Given the description of an element on the screen output the (x, y) to click on. 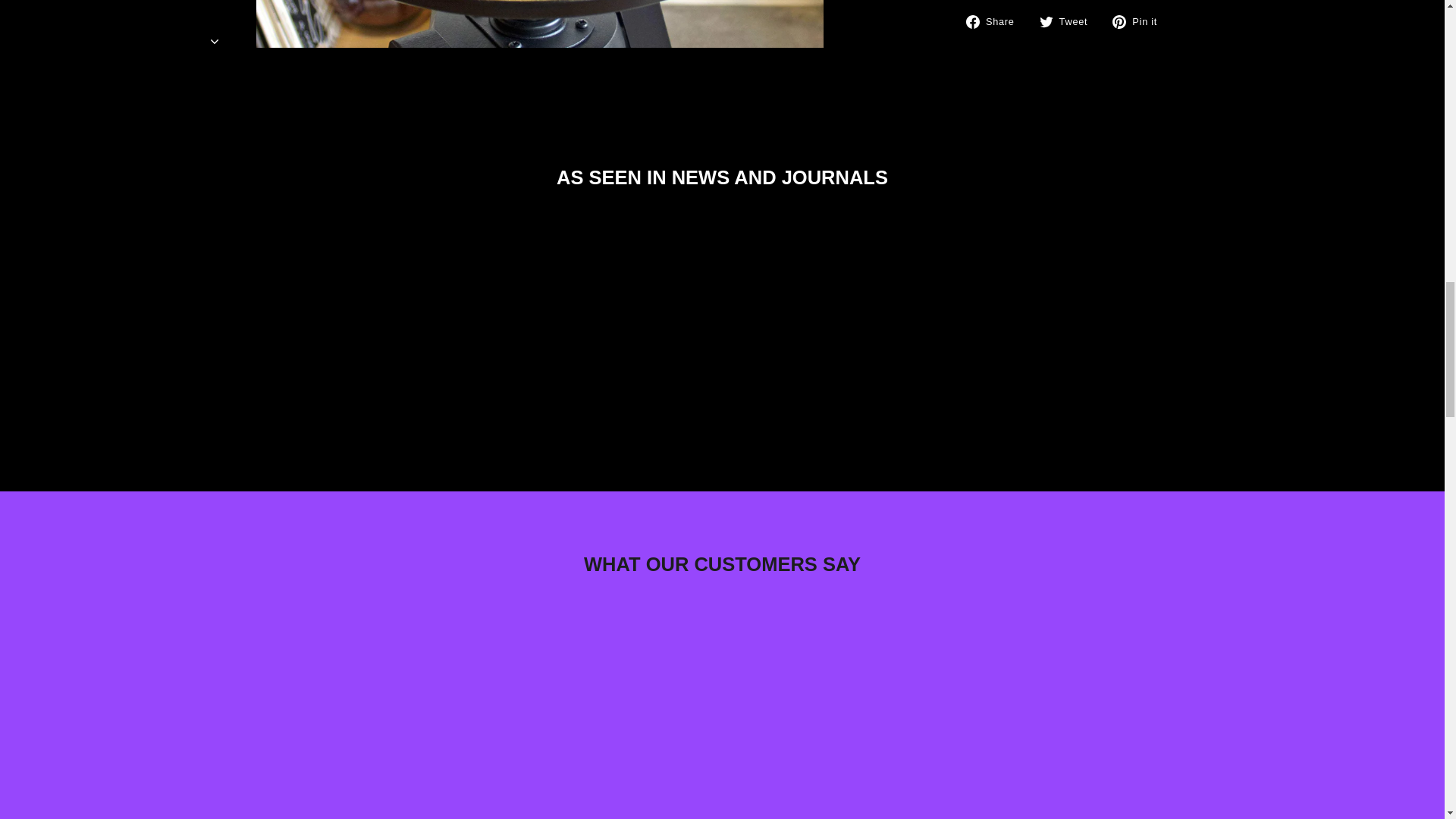
Pin on Pinterest (1140, 21)
Share on Facebook (996, 21)
Tweet on Twitter (1069, 21)
